Given the description of an element on the screen output the (x, y) to click on. 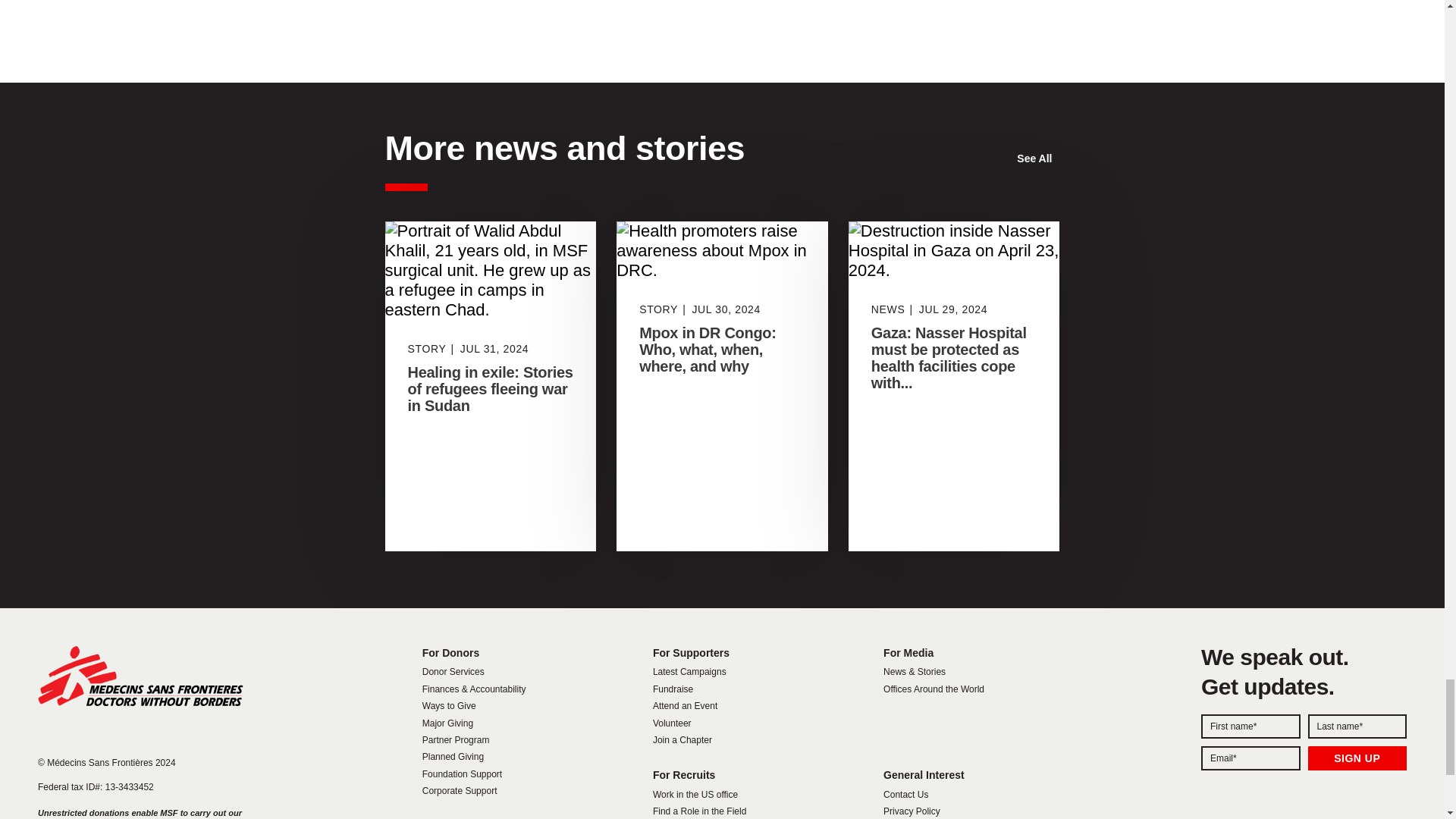
email (1250, 758)
op (1356, 758)
Home (140, 675)
SIGN UP (1356, 758)
